Given the description of an element on the screen output the (x, y) to click on. 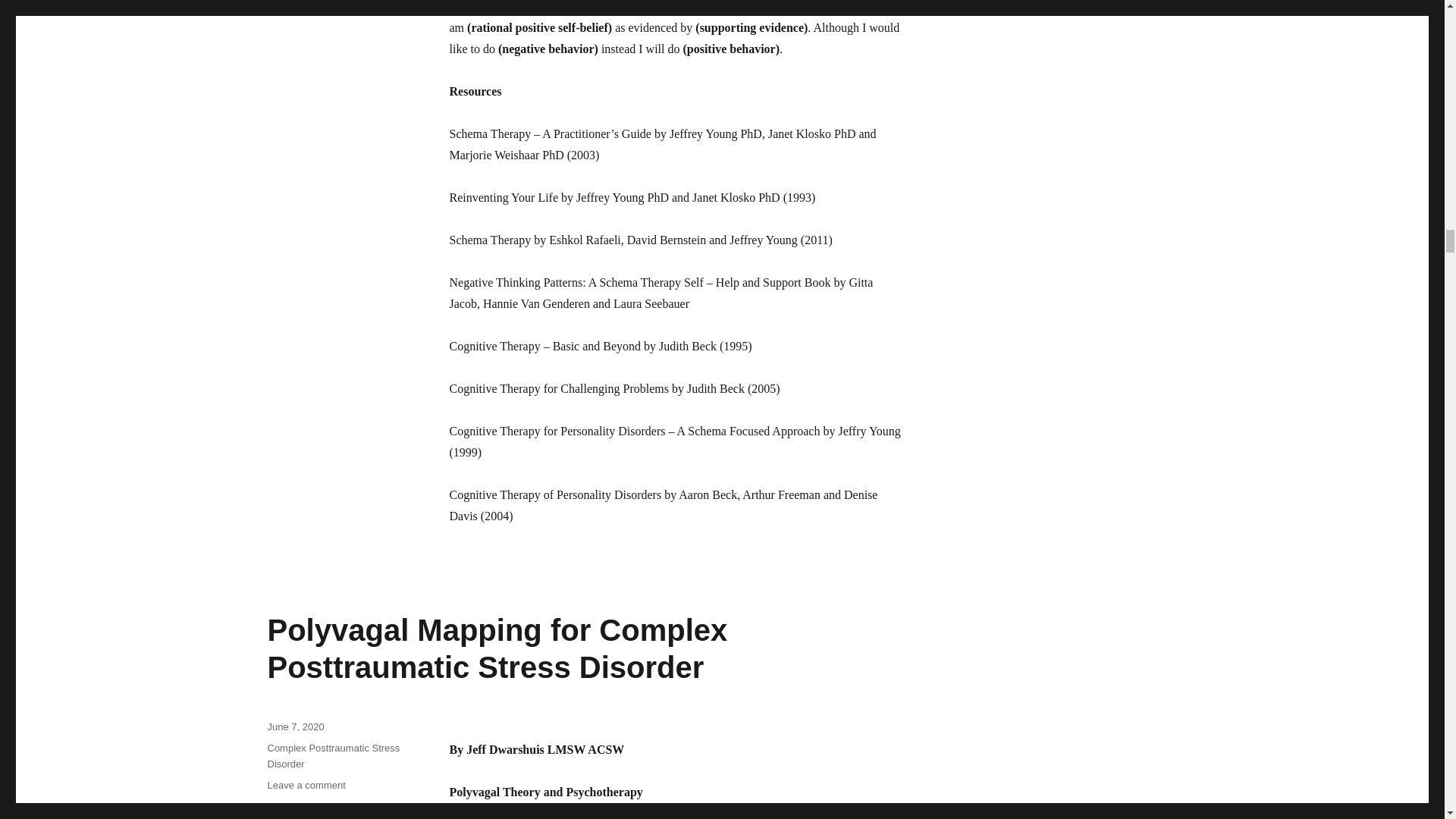
Polyvagal Mapping for Complex Posttraumatic Stress Disorder (496, 648)
